Given the description of an element on the screen output the (x, y) to click on. 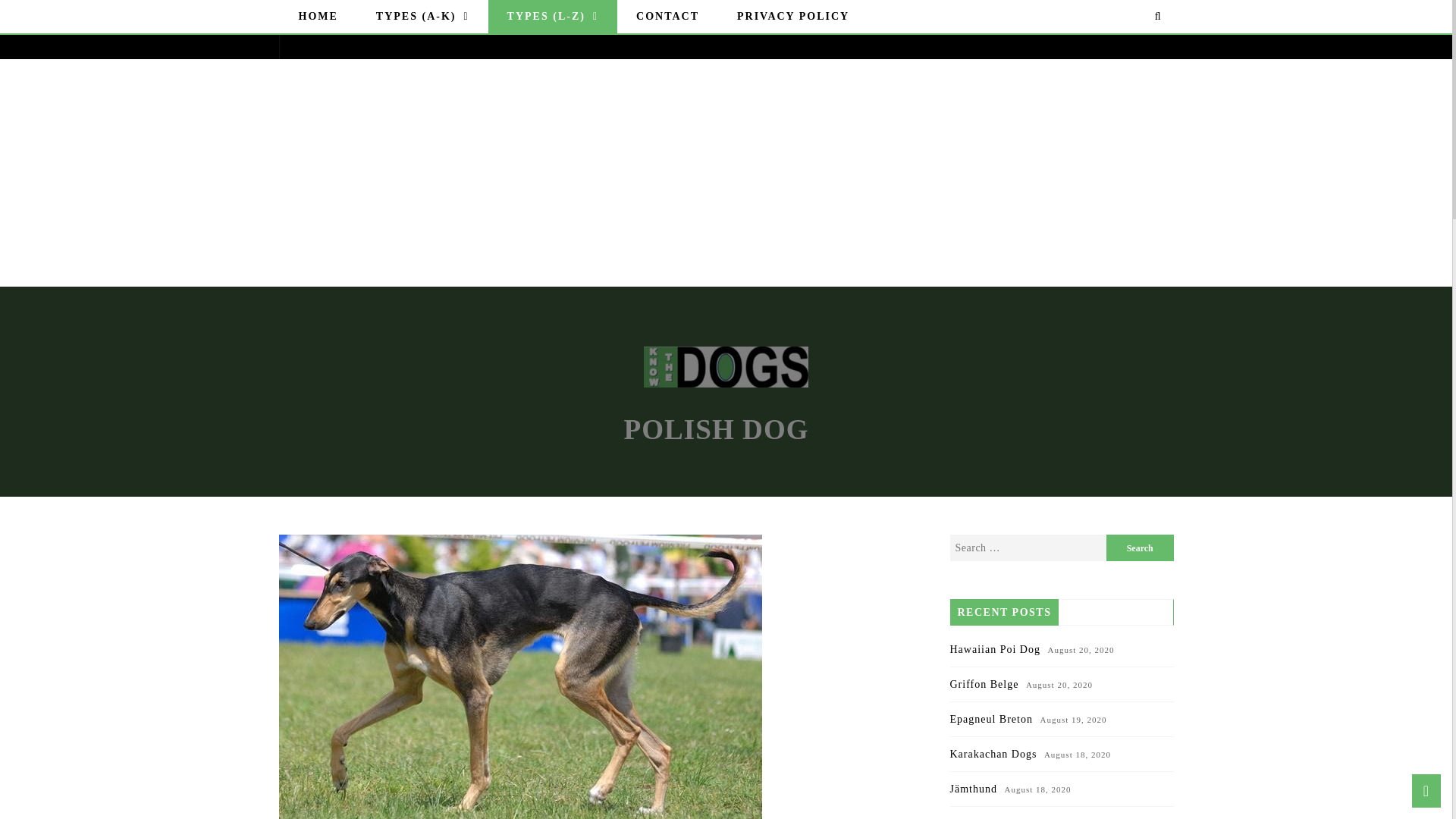
CONTACT (667, 16)
HOME (317, 16)
Search (1139, 547)
Search (1139, 547)
PRIVACY POLICY (792, 16)
